Given the description of an element on the screen output the (x, y) to click on. 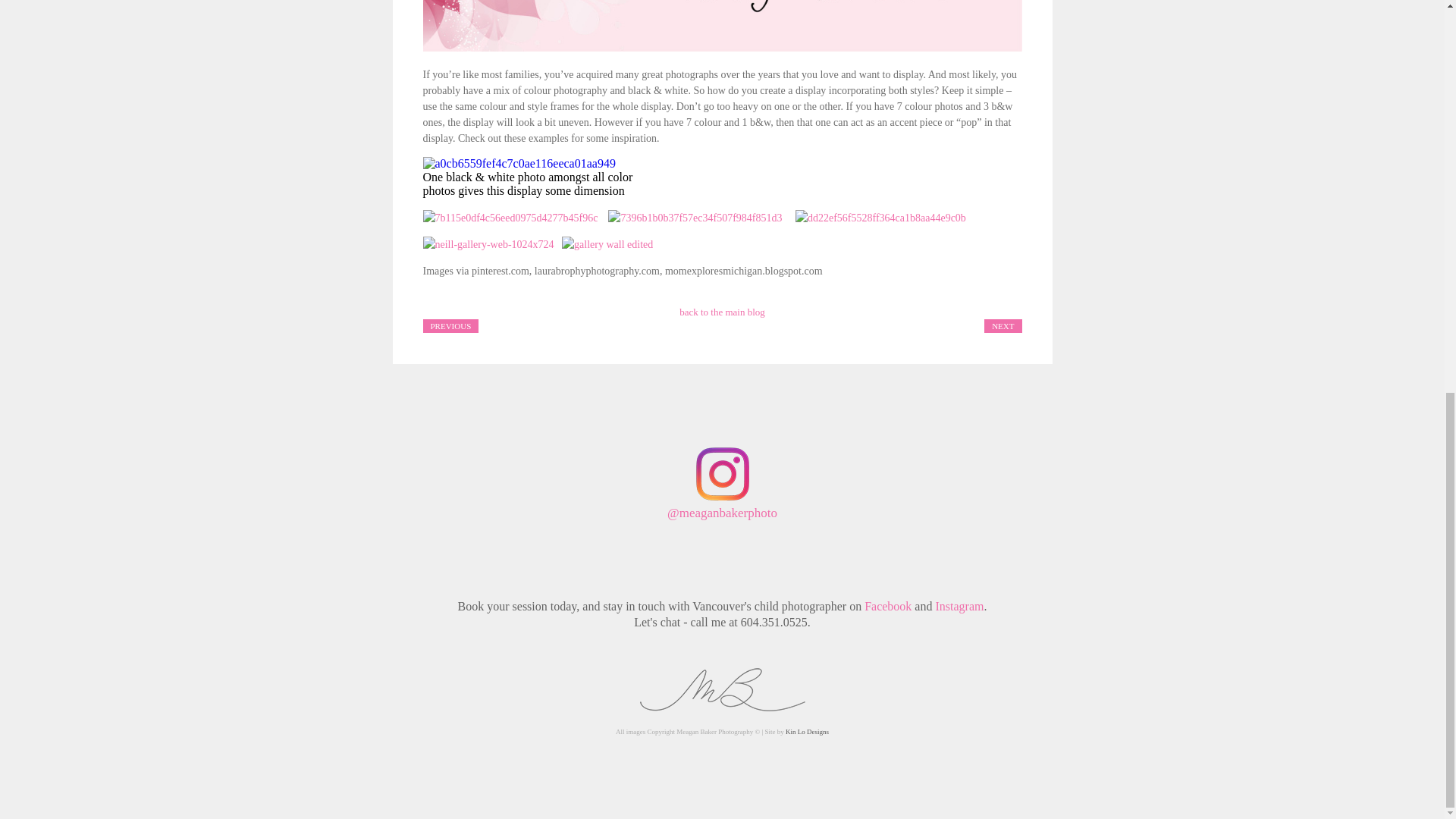
back to the main blog (722, 311)
Facebook (887, 605)
NEXT (1003, 324)
PREVIOUS (451, 324)
Instagram (959, 605)
Kin Lo Designs (807, 731)
